Given the description of an element on the screen output the (x, y) to click on. 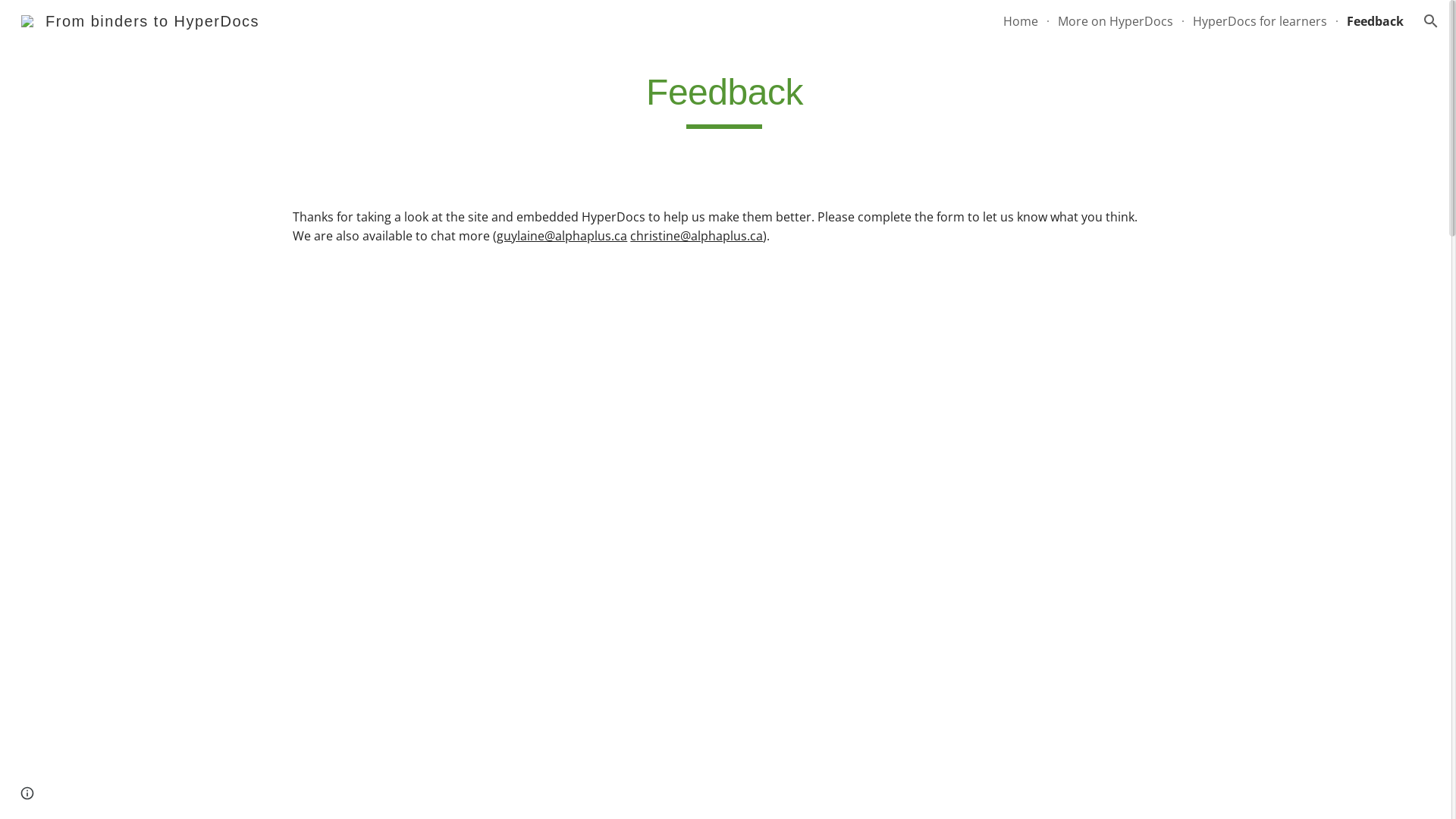
More on HyperDocs Element type: text (1115, 20)
Feedback Element type: text (1374, 20)
HyperDocs for learners Element type: text (1259, 20)
From binders to HyperDocs Element type: text (140, 19)
guylaine@alphaplus.ca Element type: text (561, 235)
Home Element type: text (1020, 20)
christine@alphaplus.ca Element type: text (696, 235)
